Given the description of an element on the screen output the (x, y) to click on. 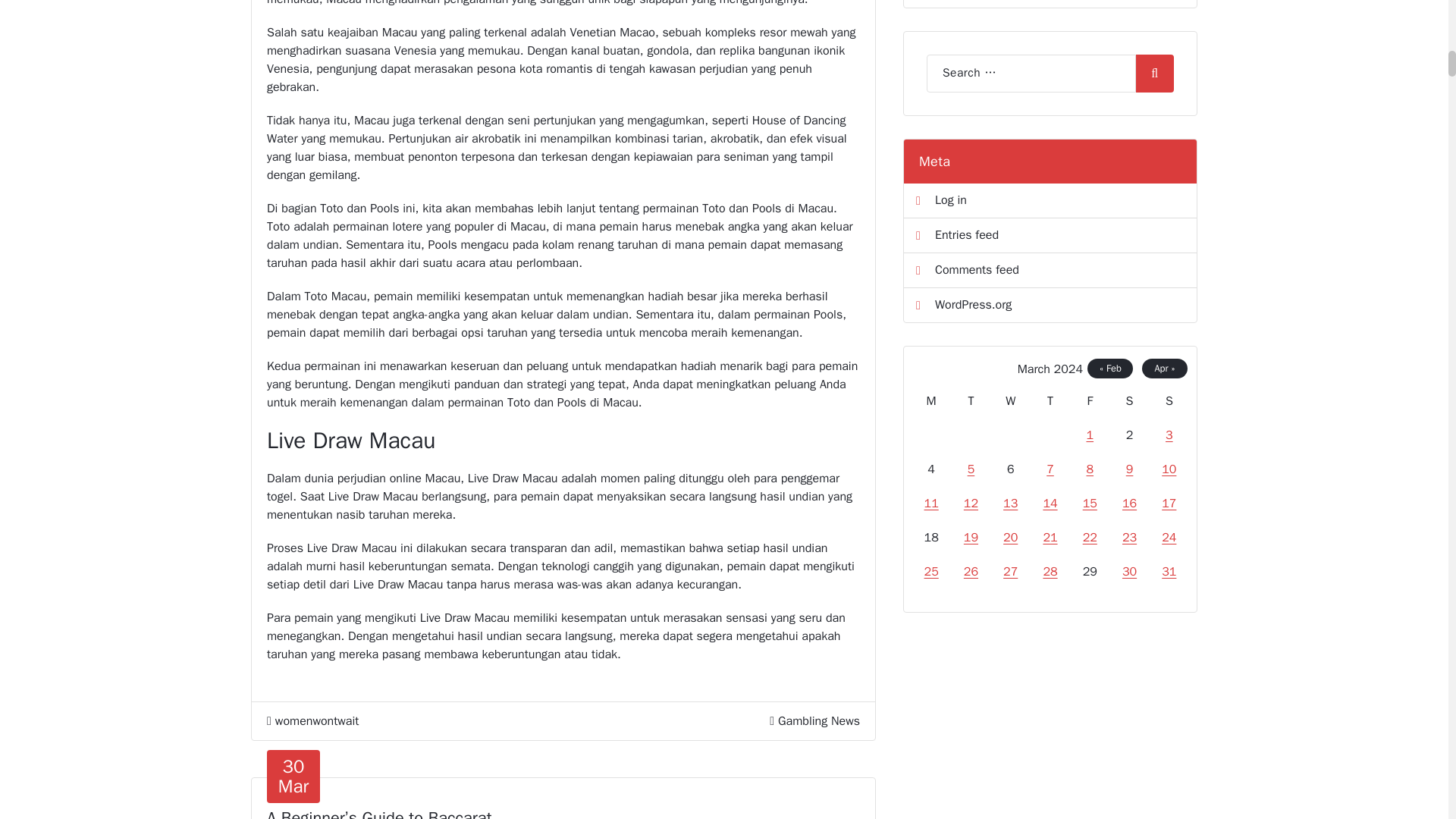
Gambling News (293, 776)
womenwontwait (818, 720)
womenwontwait (312, 720)
